Given the description of an element on the screen output the (x, y) to click on. 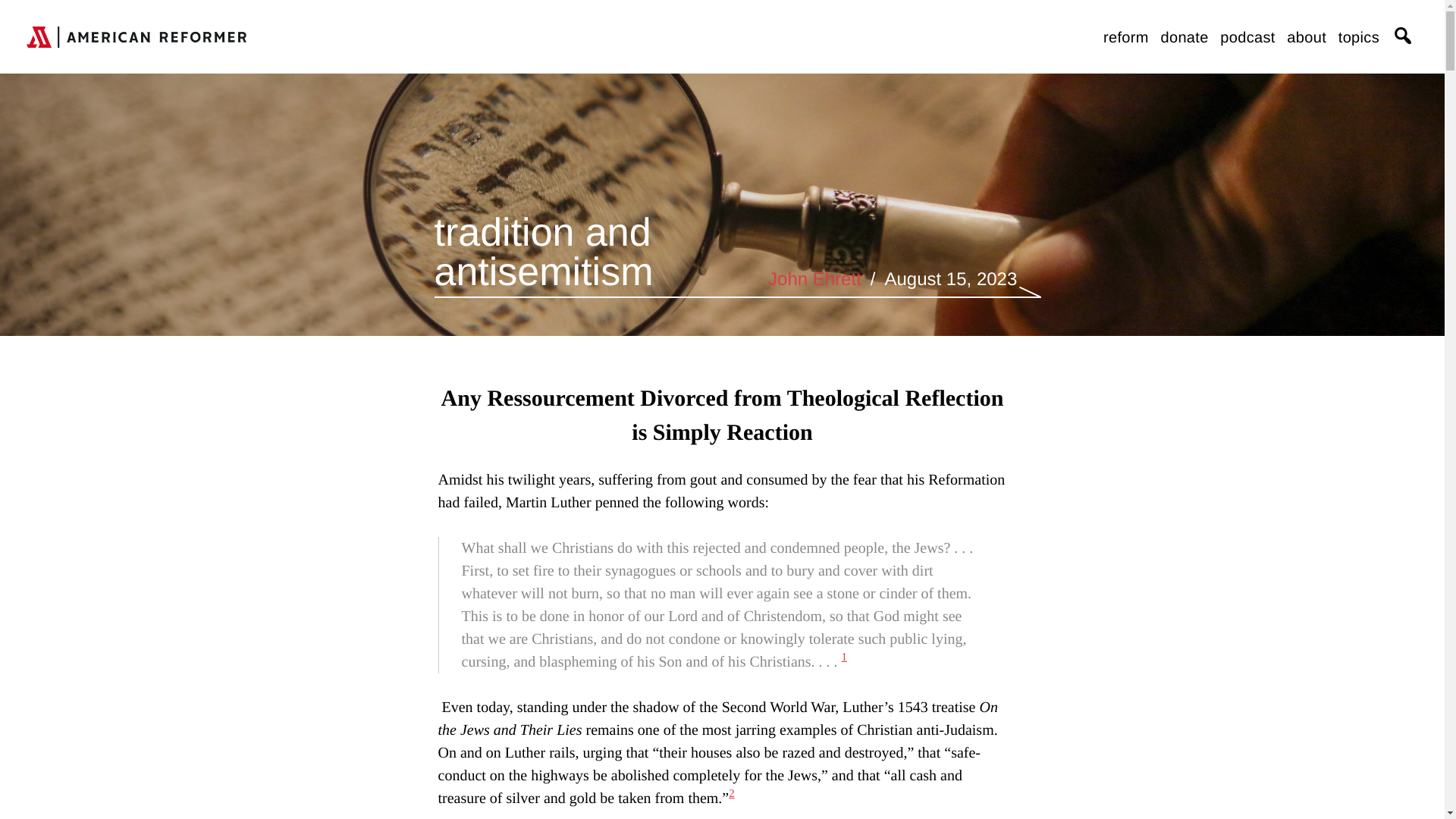
podcast (1247, 37)
donate (1184, 37)
August 15, 2023 (949, 279)
about (1306, 37)
John Ehrett (814, 279)
topics (1358, 37)
reform (1125, 37)
Search (1138, 11)
